Given the description of an element on the screen output the (x, y) to click on. 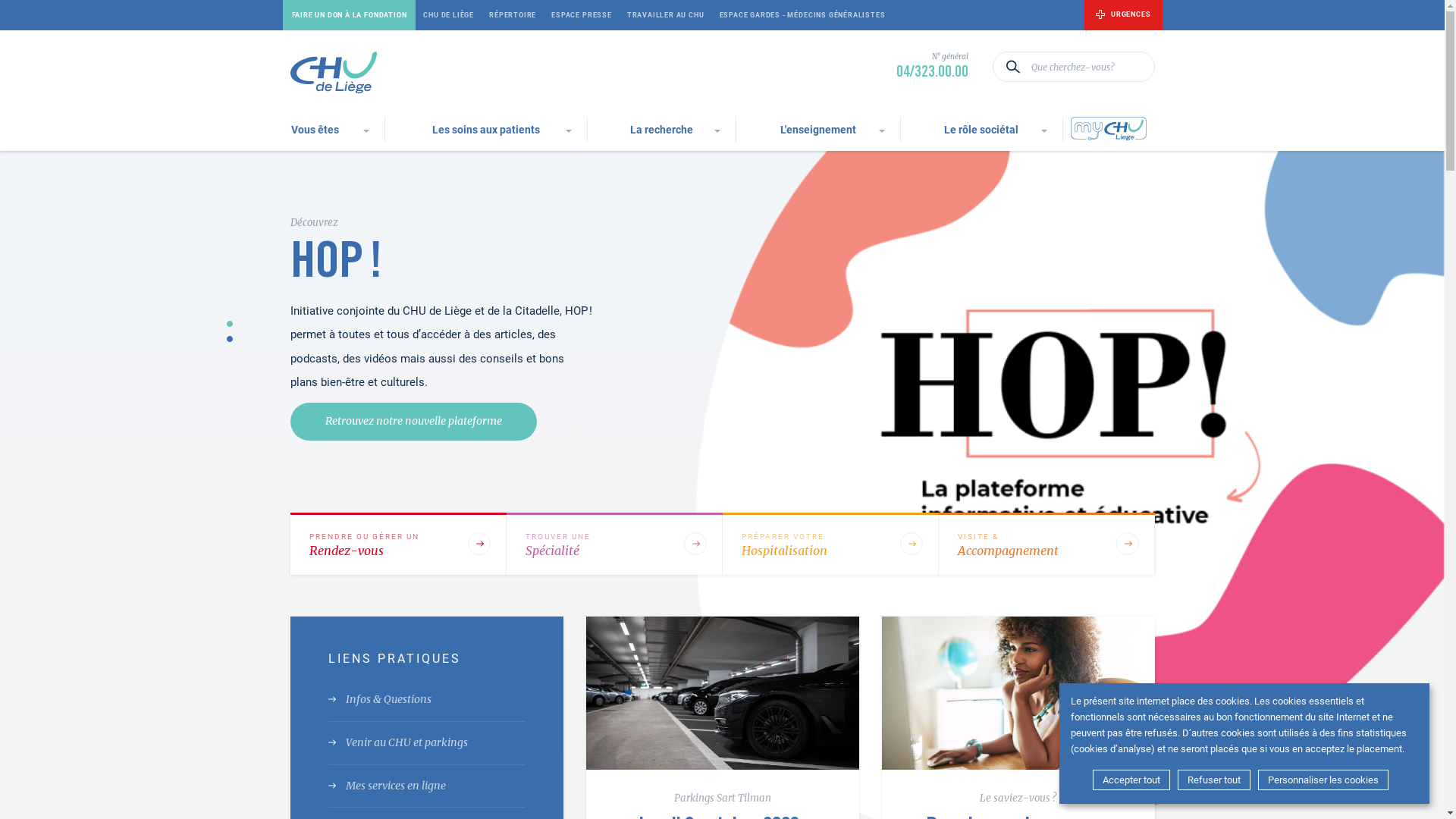
VISITE &
accompagnement Element type: text (1046, 543)
Personnaliser les cookies Element type: text (1323, 779)
TRAVAILLER AU CHU Element type: text (665, 15)
L'enseignement Element type: text (818, 129)
Les soins aux patients Element type: text (485, 129)
Retrouvez notre nouvelle plateforme Element type: text (412, 421)
La recherche Element type: text (661, 129)
ESPACE PRESSE Element type: text (581, 15)
04/323.00.00 Element type: text (932, 72)
Mes services en ligne Element type: text (425, 786)
Infos & Questions Element type: text (425, 699)
Venir au CHU et parkings Element type: text (425, 743)
Accepter tout Element type: text (1131, 779)
URGENCES Element type: text (1122, 15)
Refuser tout Element type: text (1213, 779)
